Given the description of an element on the screen output the (x, y) to click on. 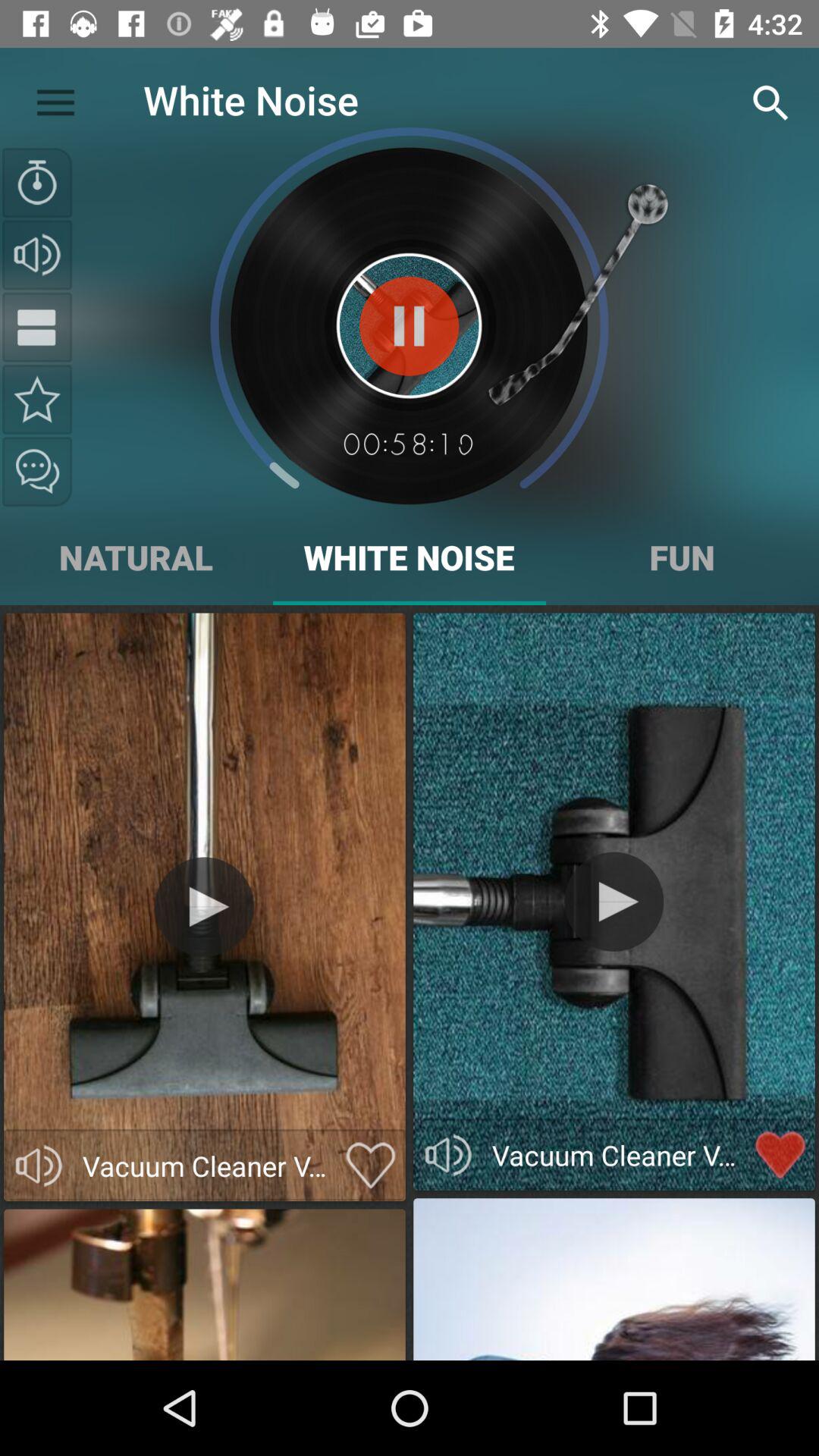
mute or unmute (448, 1155)
